Given the description of an element on the screen output the (x, y) to click on. 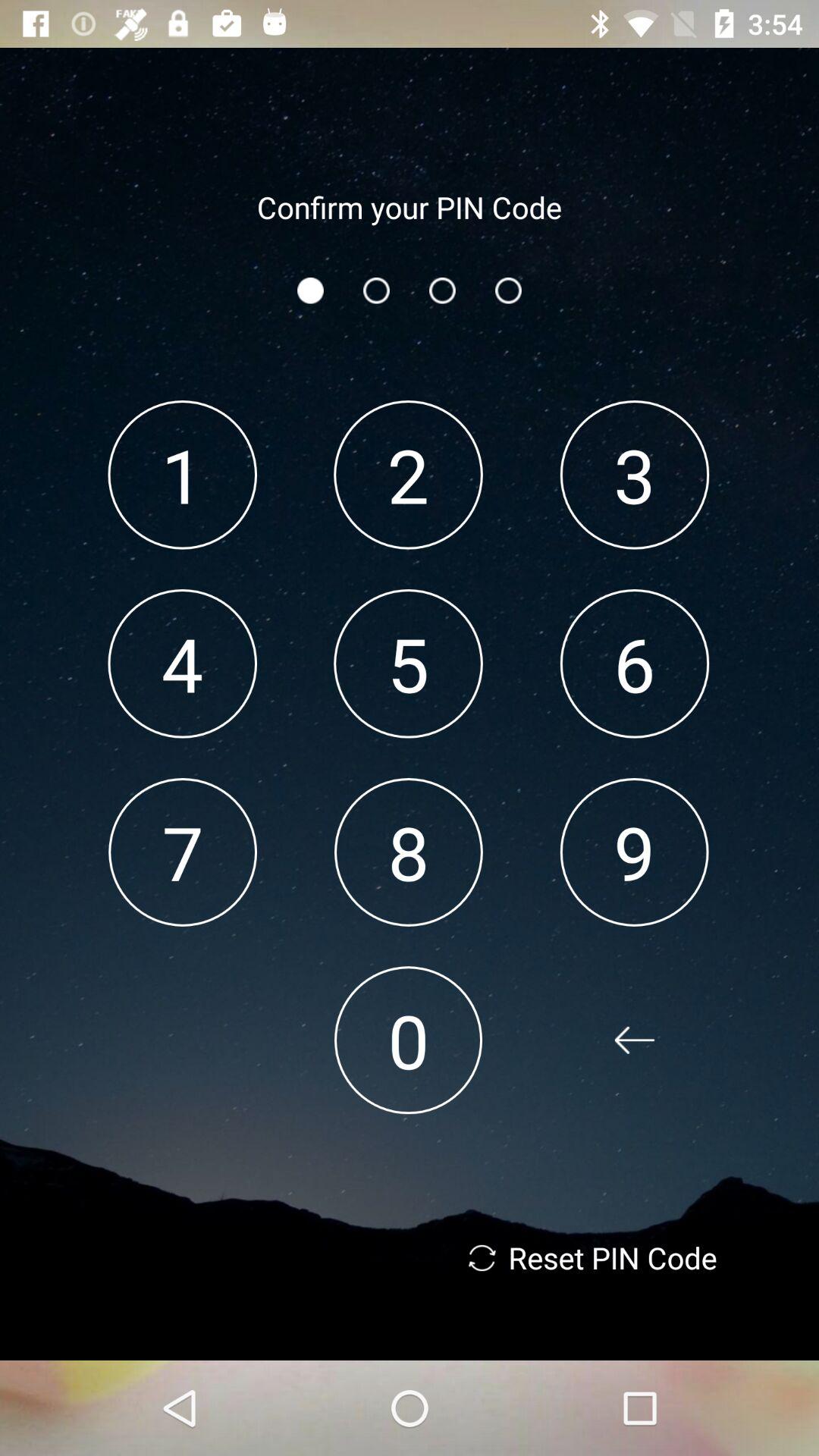
jump to the 3 app (634, 474)
